Given the description of an element on the screen output the (x, y) to click on. 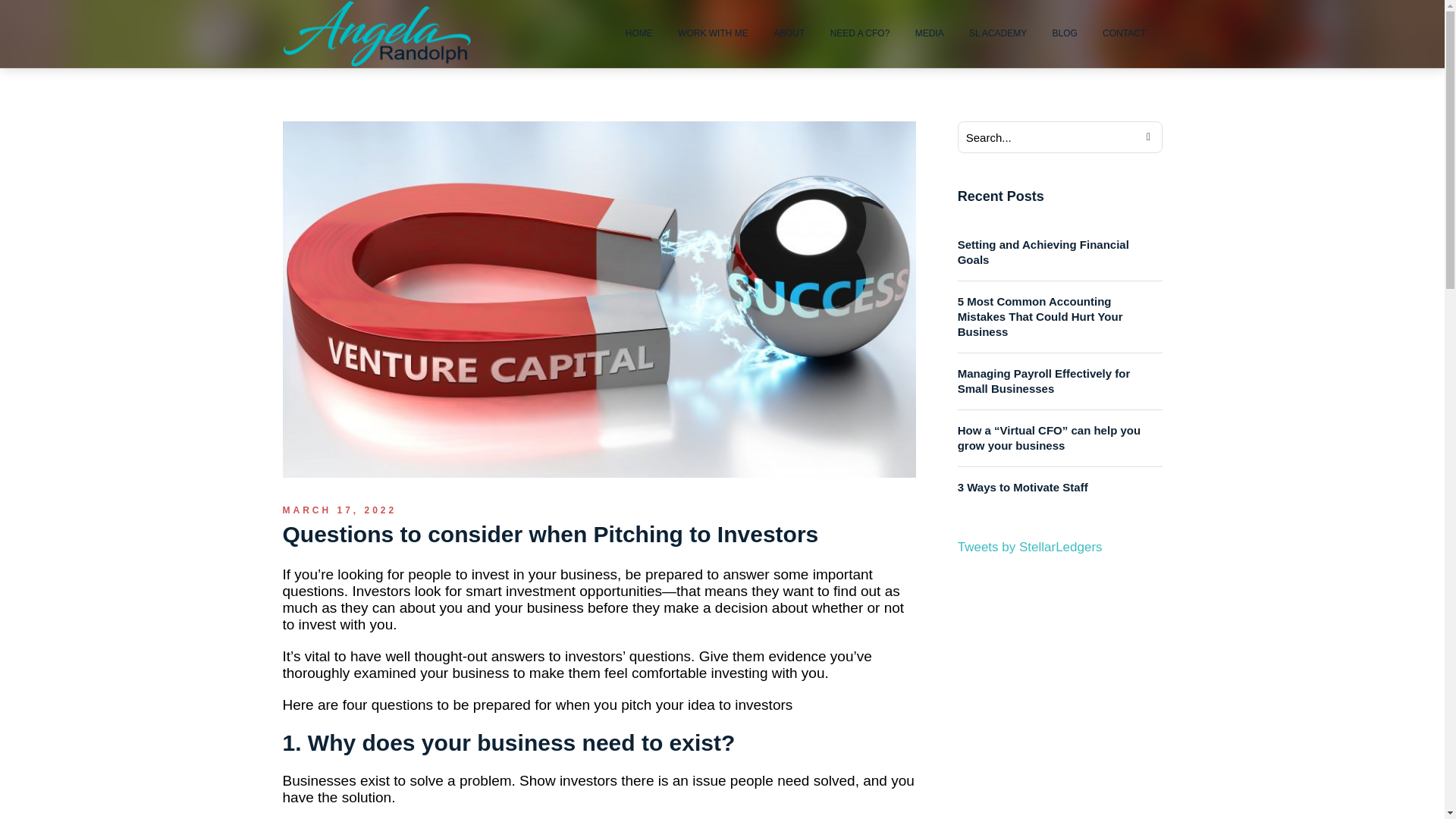
CONTACT (1123, 33)
BLOG (1064, 33)
NEED A CFO? (859, 33)
ABOUT (788, 33)
Setting and Achieving Financial Goals (1059, 252)
SL ACADEMY (998, 33)
HOME (638, 33)
WORK WITH ME (713, 33)
March 17, 2022 (339, 509)
MEDIA (929, 33)
Questions to consider when Pitching to Investors (598, 298)
